Given the description of an element on the screen output the (x, y) to click on. 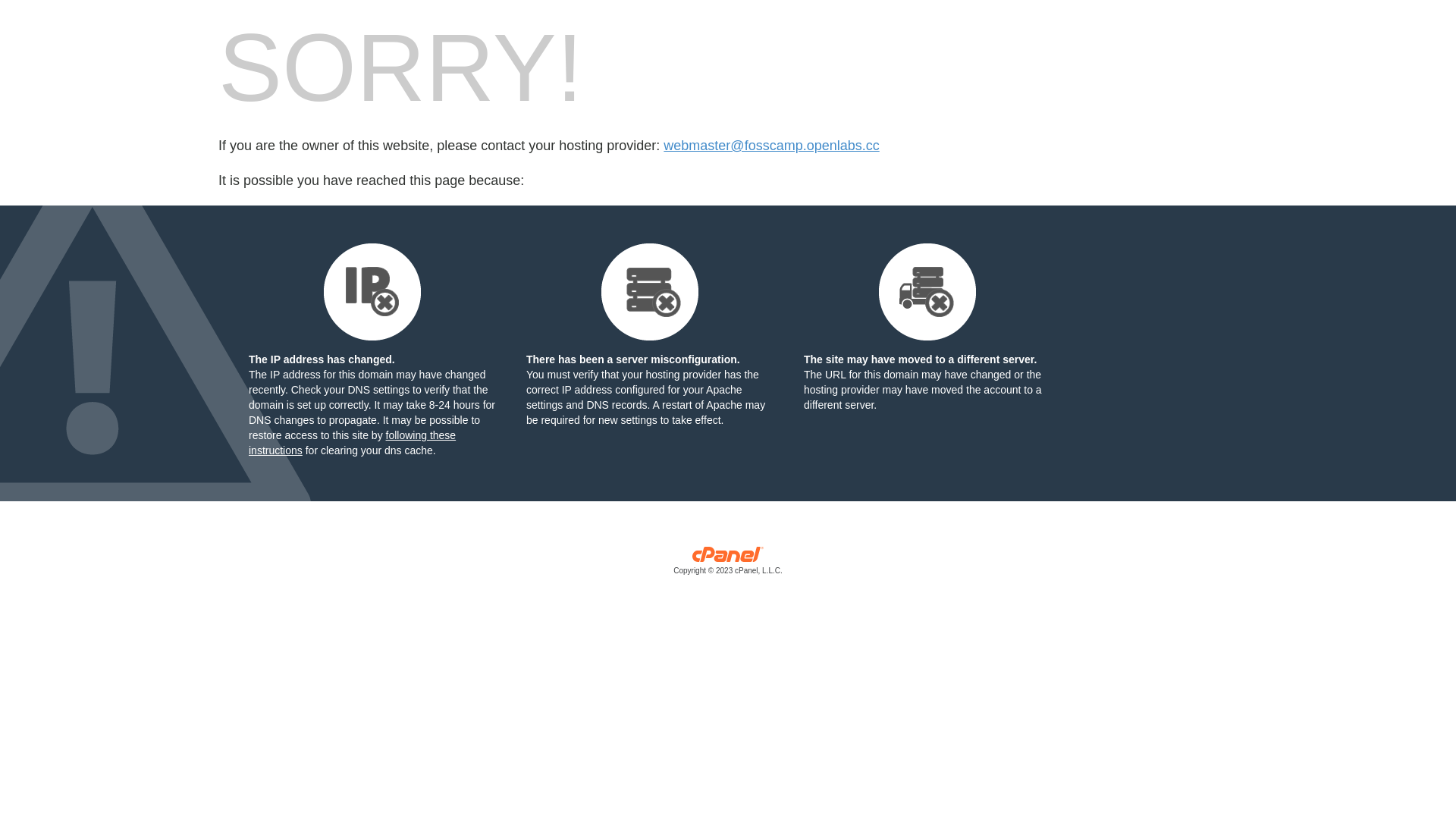
webmaster@fosscamp.openlabs.cc Element type: text (770, 145)
following these instructions Element type: text (351, 442)
